Given the description of an element on the screen output the (x, y) to click on. 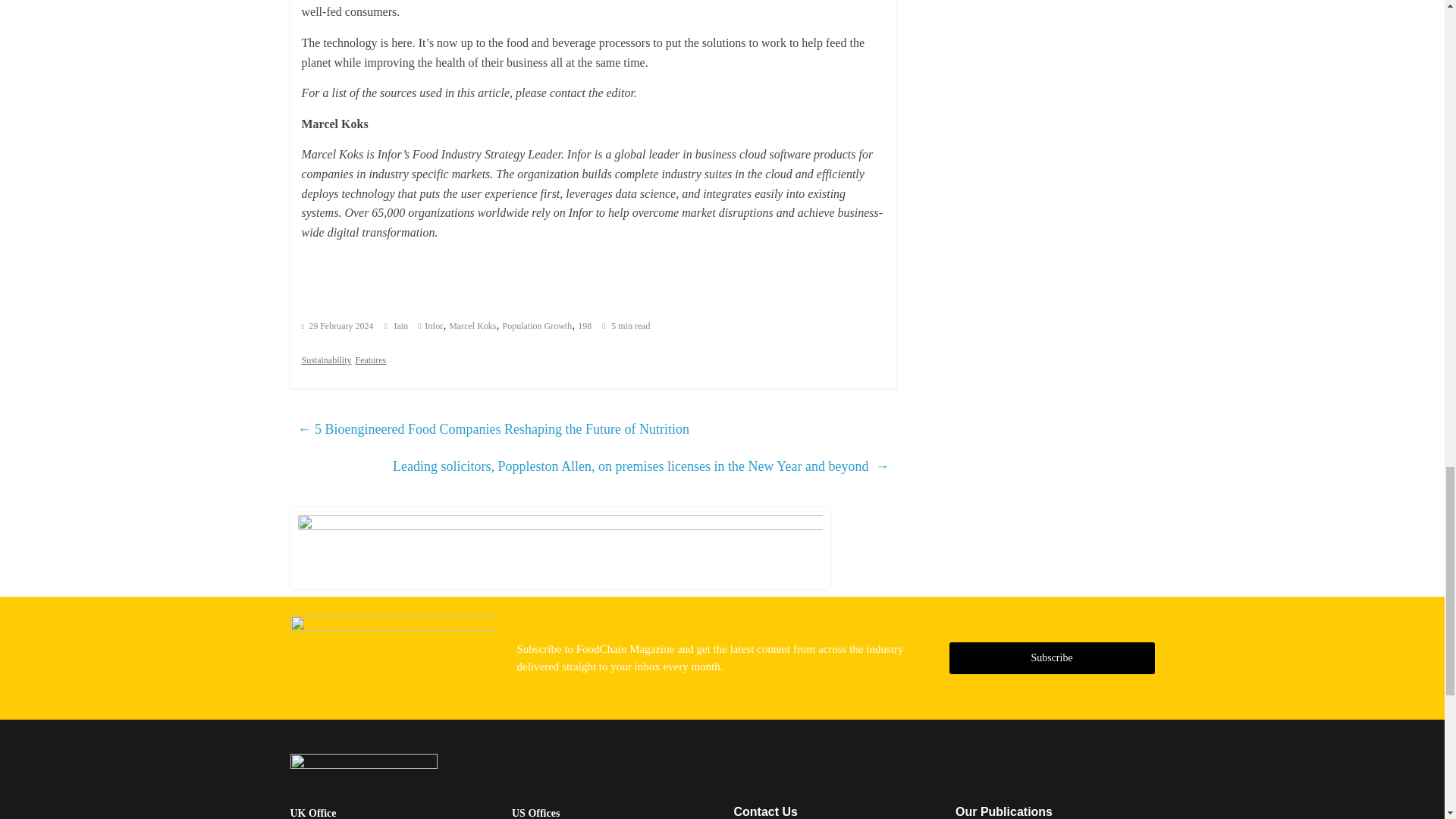
Sustainability (326, 359)
Features (370, 359)
Iain (402, 326)
Marcel Koks (472, 326)
Population Growth (537, 326)
8:48 am (337, 326)
Infor (433, 326)
Iain (402, 326)
29 February 2024 (337, 326)
198 (584, 326)
